Given the description of an element on the screen output the (x, y) to click on. 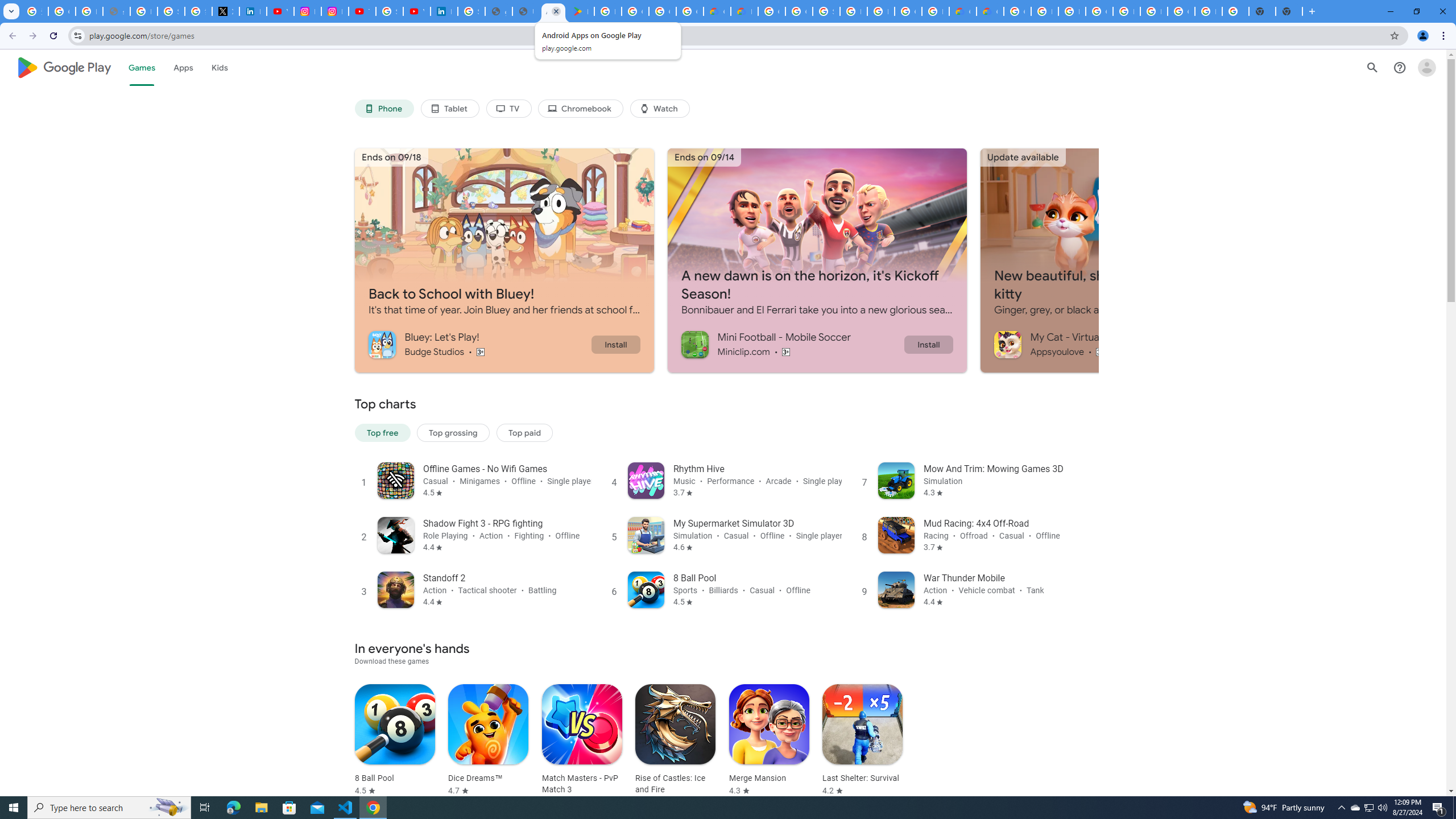
Android Apps on Google Play (553, 11)
Content rating Rated for 3+ (1100, 351)
Google Cloud Platform (1180, 11)
Apps (182, 67)
Google Cloud Platform (1017, 11)
